Given the description of an element on the screen output the (x, y) to click on. 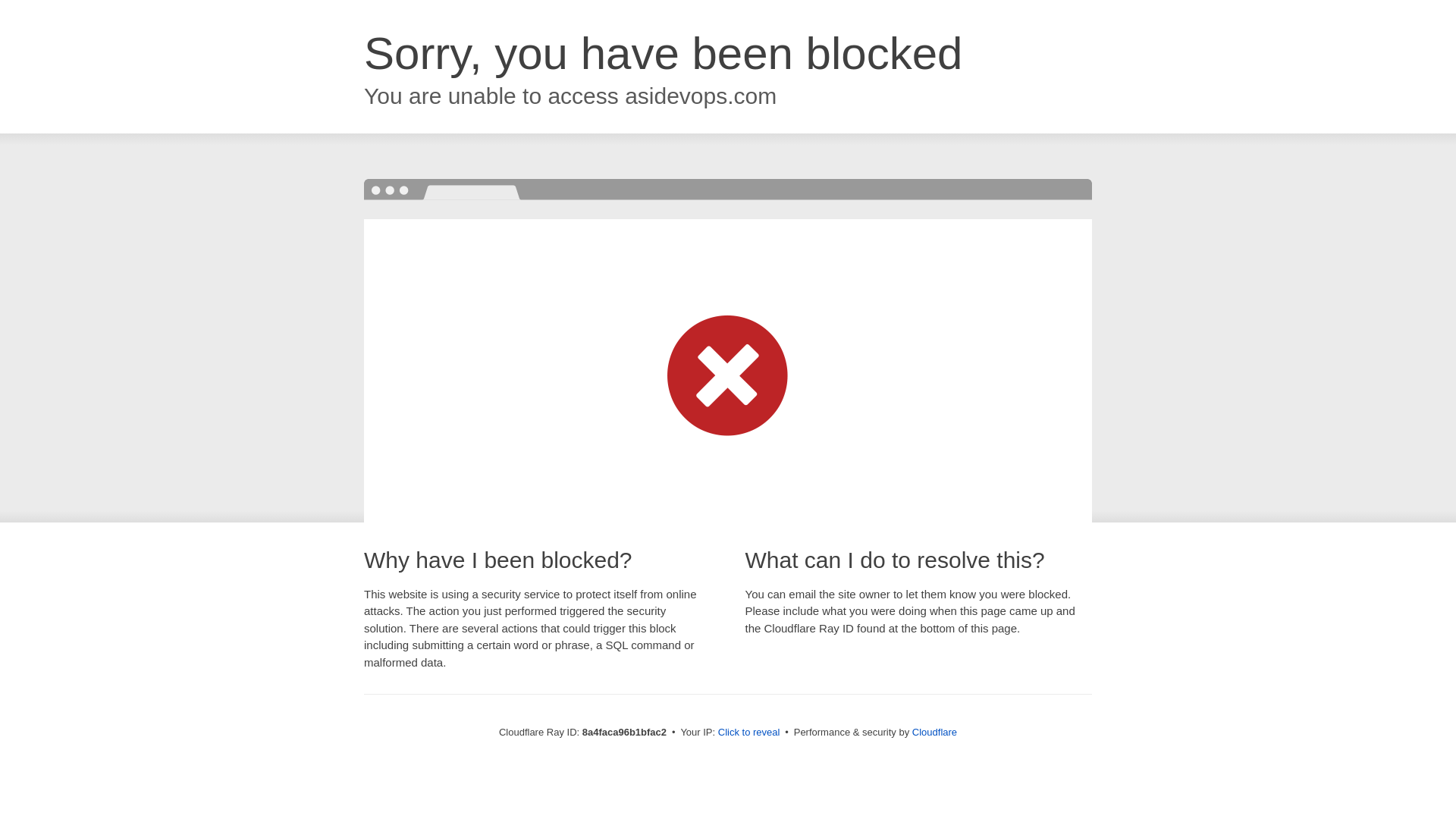
Click to reveal (748, 732)
Cloudflare (934, 731)
